Given the description of an element on the screen output the (x, y) to click on. 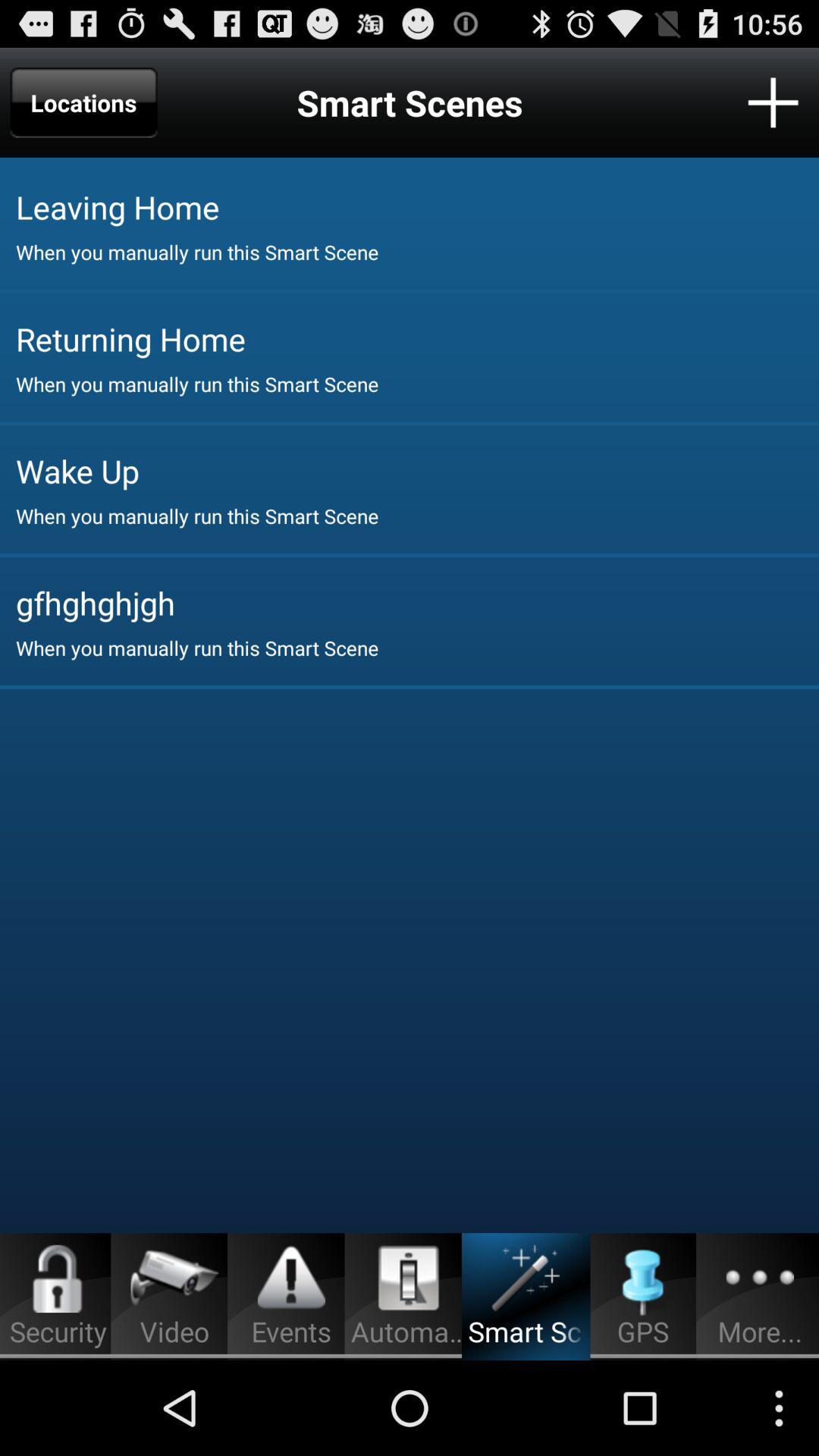
add another value (773, 102)
